Given the description of an element on the screen output the (x, y) to click on. 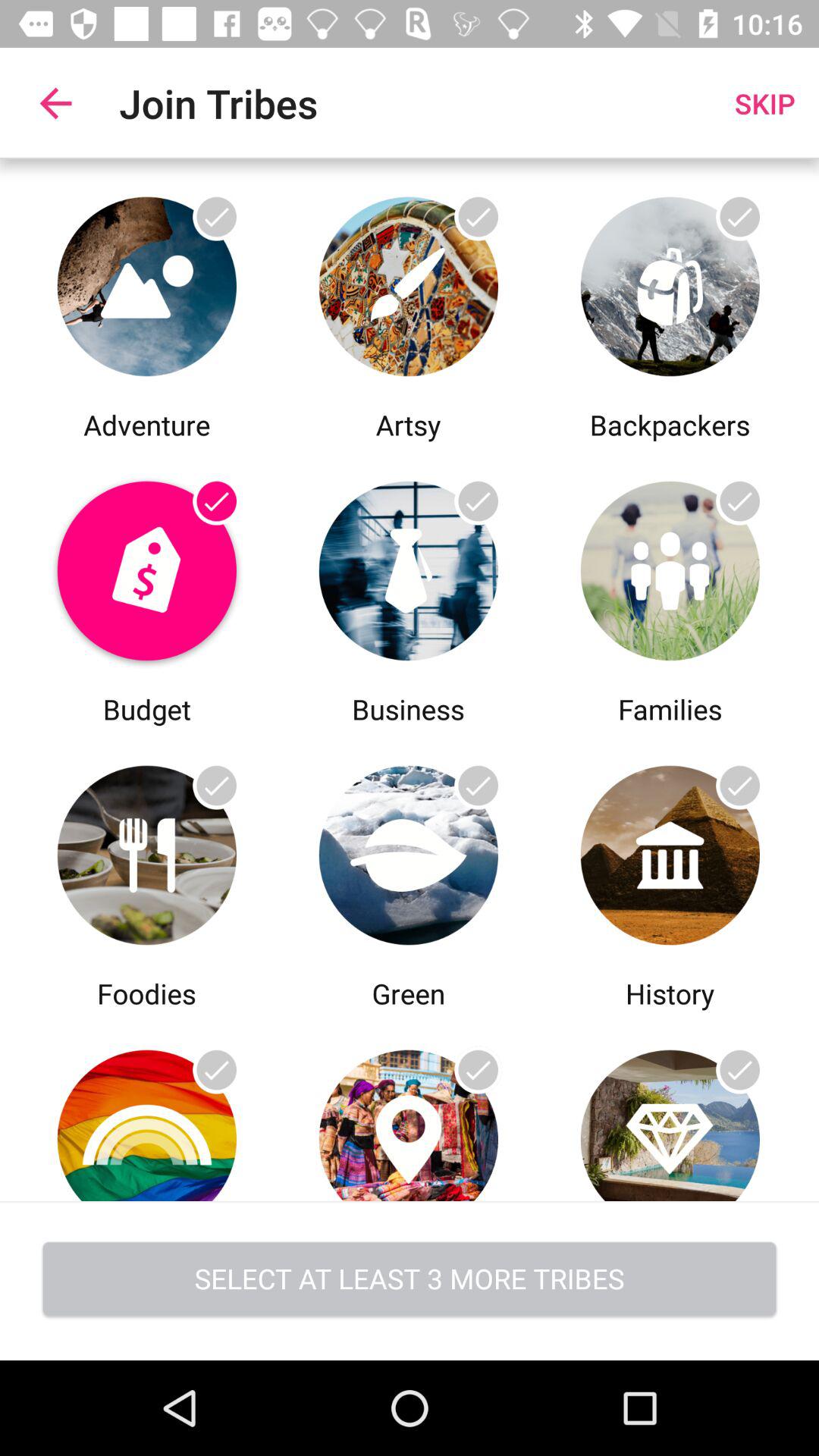
click foodies information (146, 851)
